Given the description of an element on the screen output the (x, y) to click on. 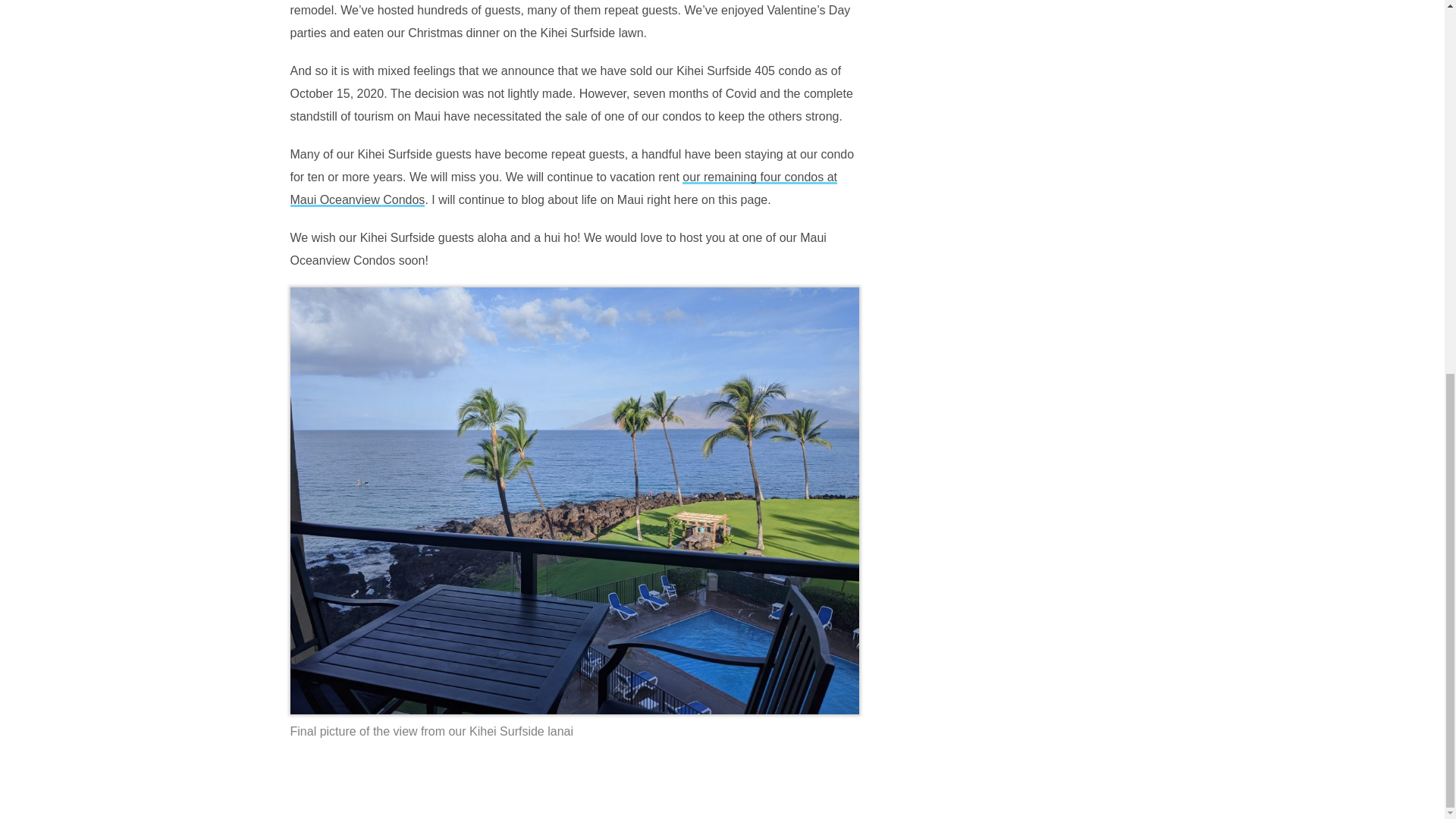
our remaining four condos at Maui Oceanview Condos (563, 188)
